Given the description of an element on the screen output the (x, y) to click on. 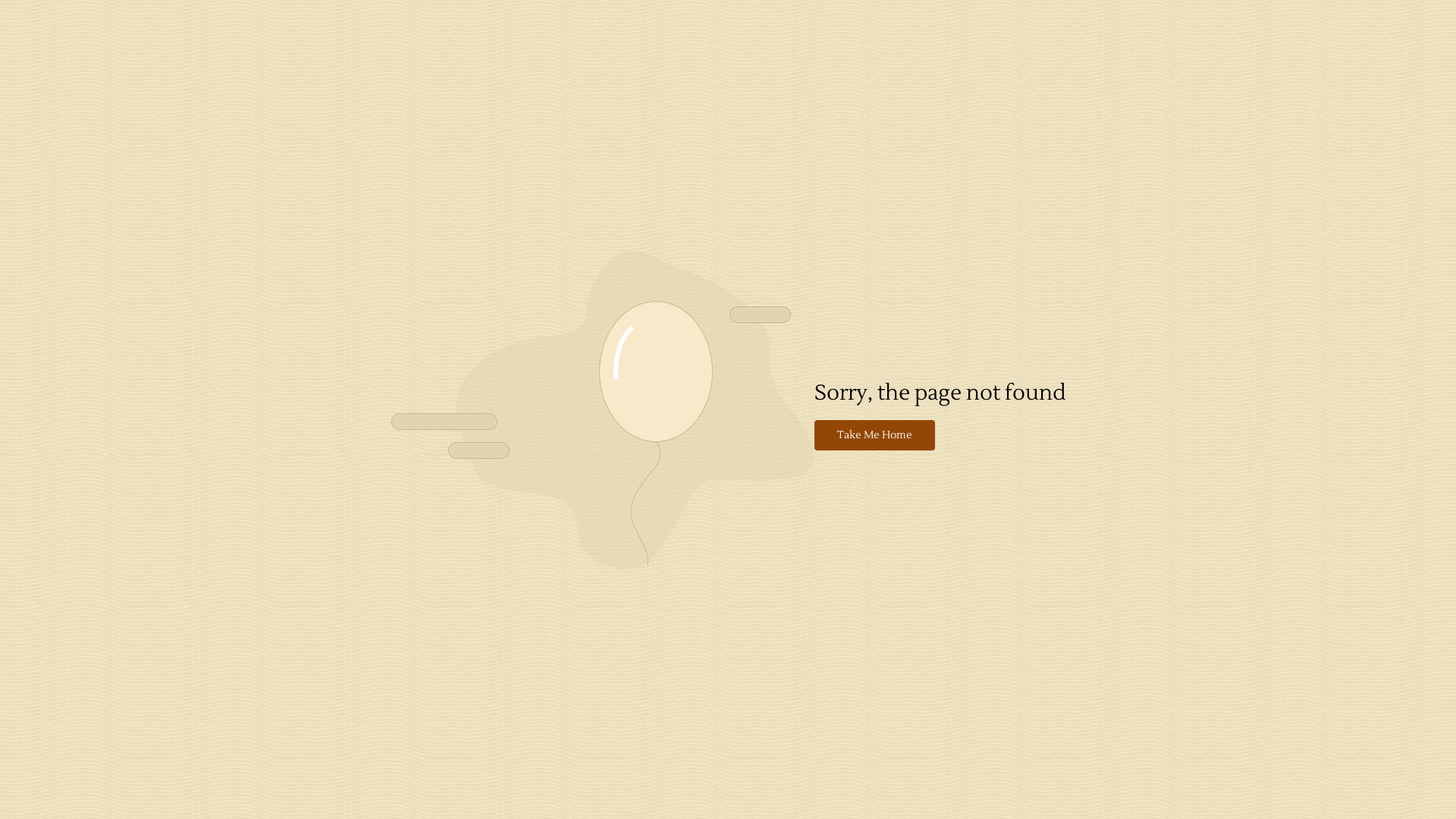
Take Me Home Element type: text (874, 435)
